Given the description of an element on the screen output the (x, y) to click on. 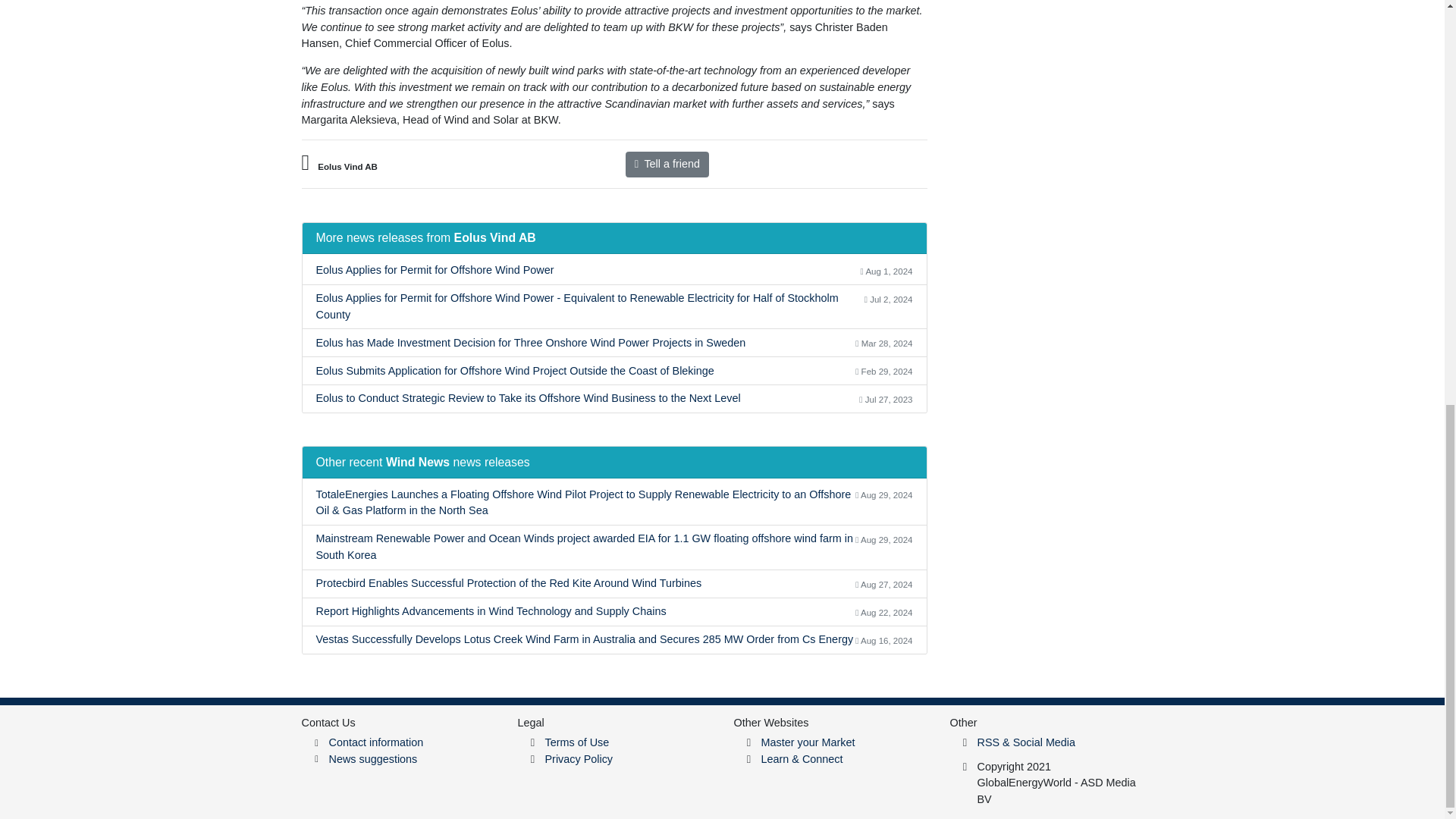
News suggestions (373, 758)
Privacy Policy (578, 758)
Tell a friend (613, 271)
Terms of Use (667, 164)
